Given the description of an element on the screen output the (x, y) to click on. 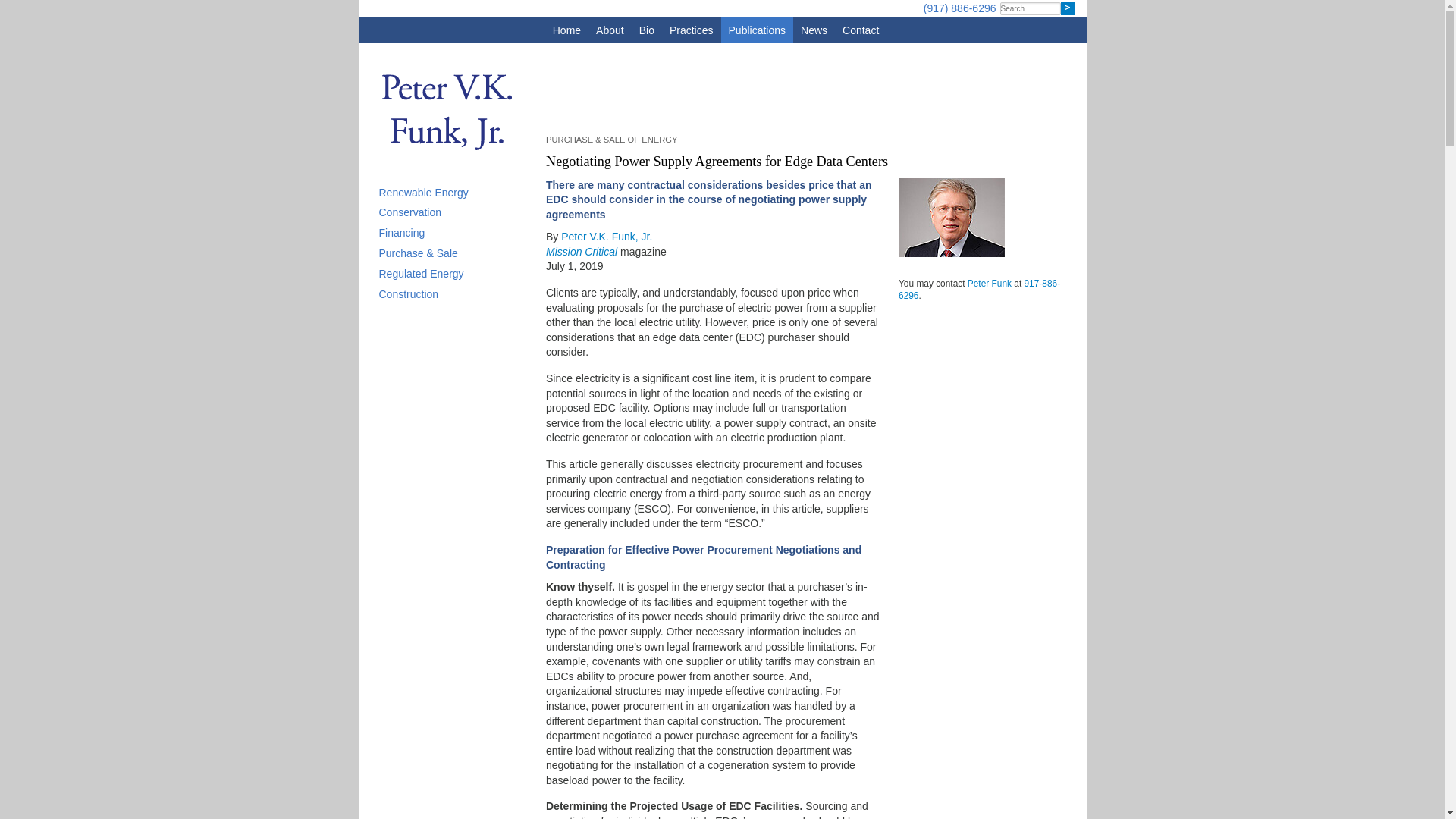
Peter V.K. Funk, Jr. - Home (444, 166)
Regulated Energy (421, 273)
Search (1066, 8)
Peter V.K. Funk, Jr. (606, 236)
News (813, 30)
Construction (408, 294)
Peter Funk (989, 282)
Publications (756, 30)
Practices (691, 30)
Conservation (410, 212)
About (609, 30)
Bio (646, 30)
Home (566, 30)
Contact (860, 30)
Financing (401, 232)
